Given the description of an element on the screen output the (x, y) to click on. 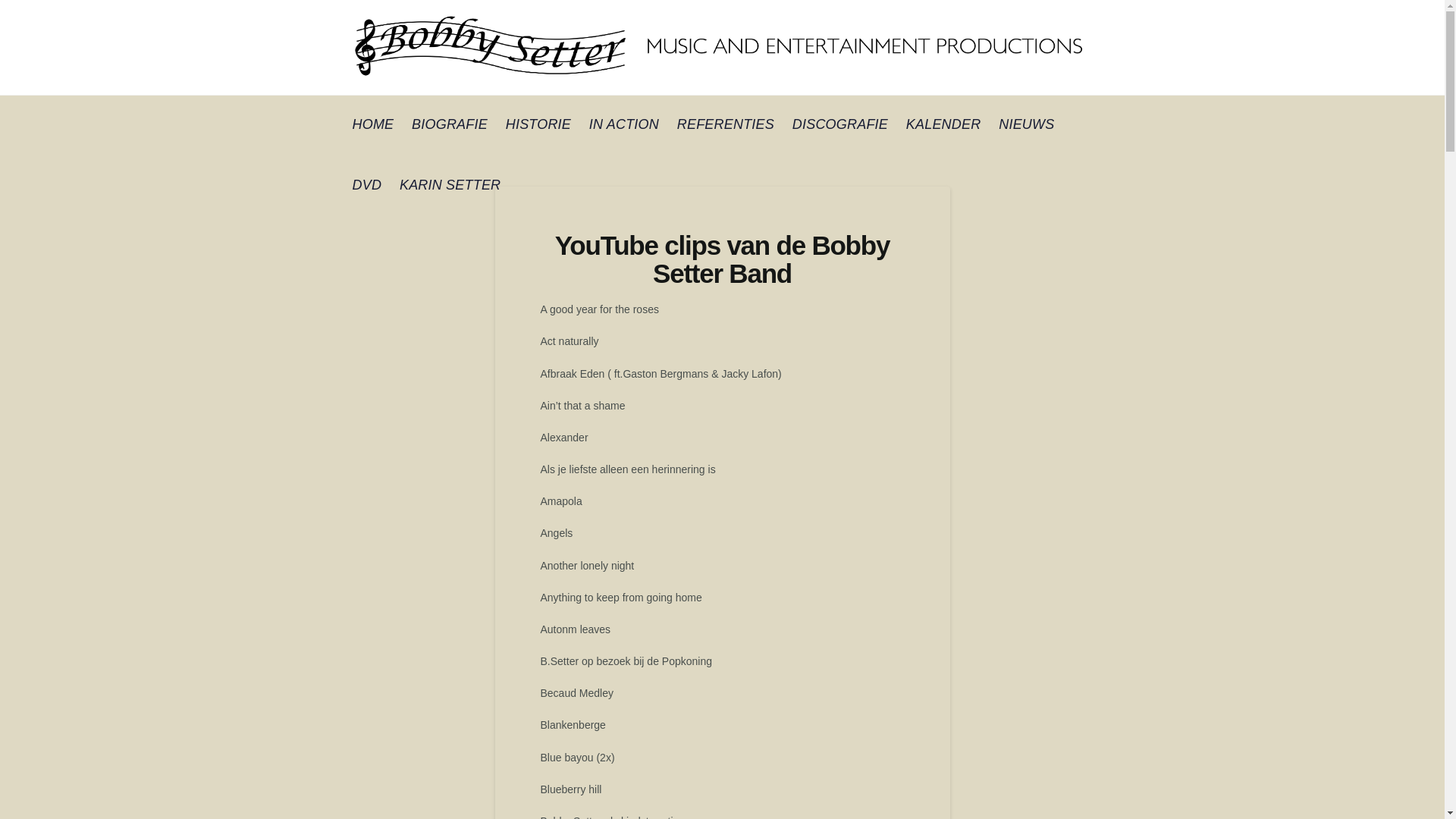
Just another WordPress site Element type: hover (721, 47)
BIOGRAFIE Element type: text (449, 125)
REFERENTIES Element type: text (725, 125)
HOME Element type: text (372, 125)
KARIN SETTER Element type: text (449, 186)
IN ACTION Element type: text (624, 125)
DVD Element type: text (365, 186)
HISTORIE Element type: text (538, 125)
NIEUWS Element type: text (1026, 125)
KALENDER Element type: text (943, 125)
DISCOGRAFIE Element type: text (840, 125)
